Given the description of an element on the screen output the (x, y) to click on. 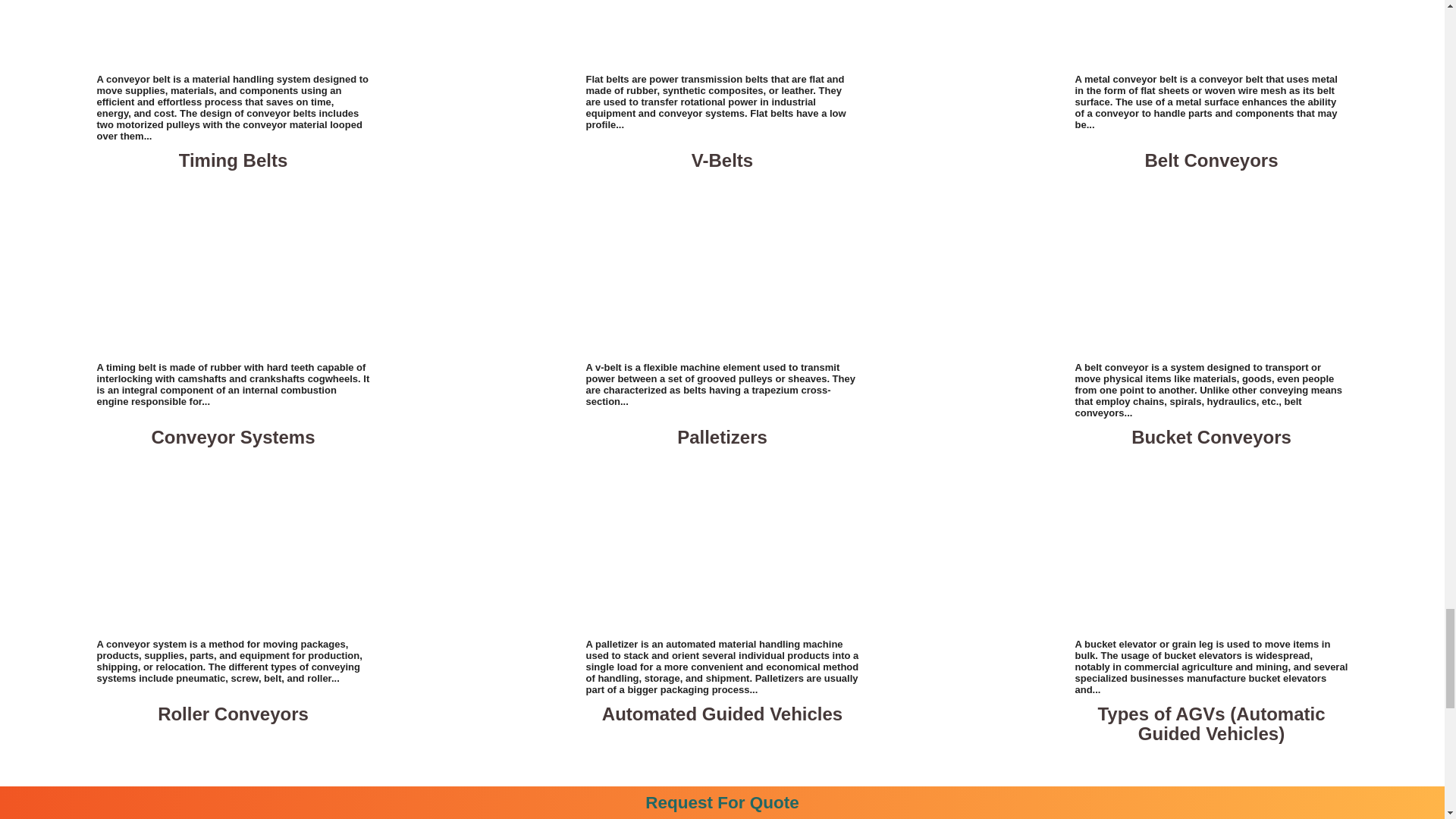
Flat Belt (722, 34)
Conveyor Belts (233, 34)
